Given the description of an element on the screen output the (x, y) to click on. 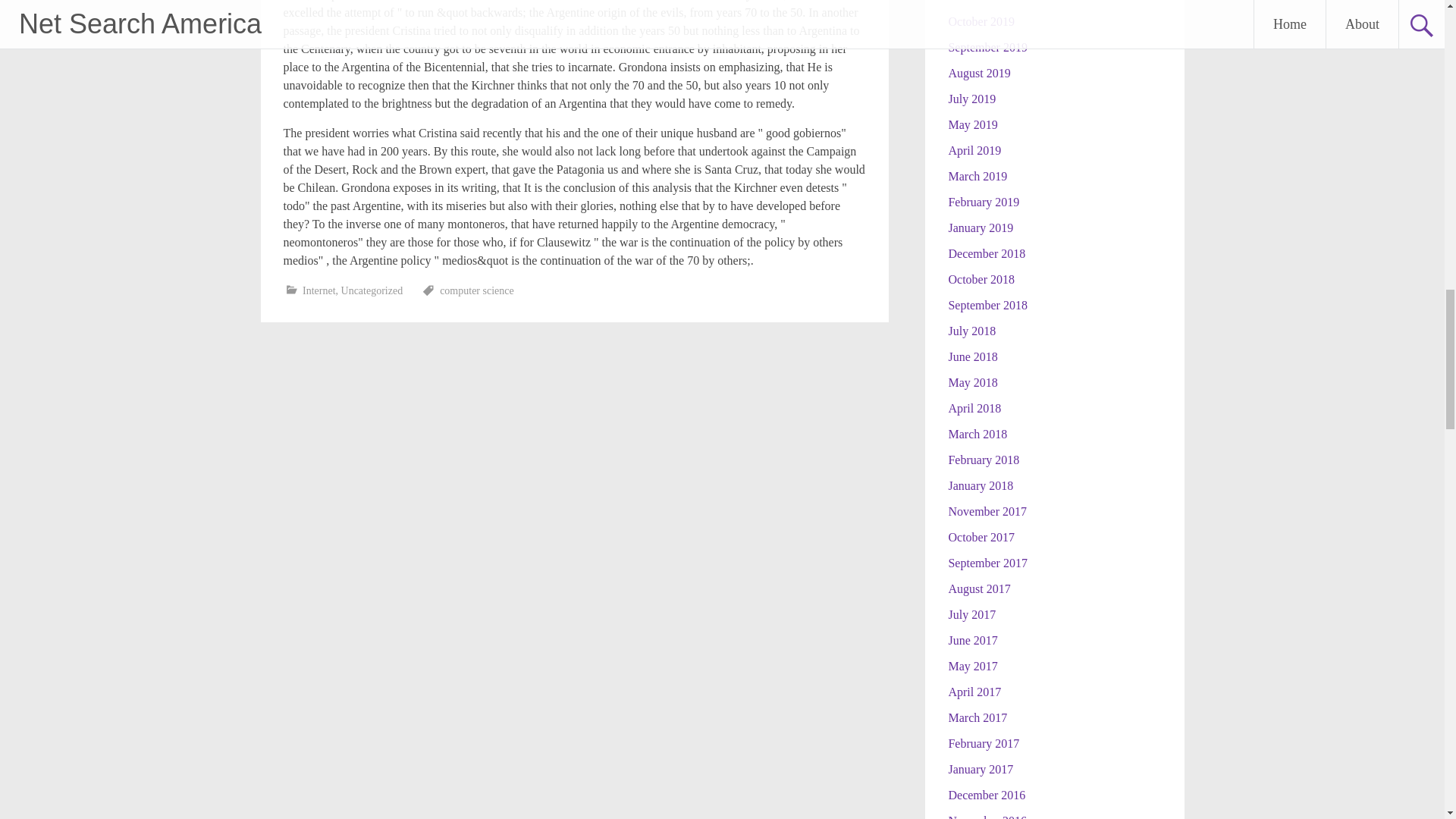
Uncategorized (371, 290)
Internet (319, 290)
computer science (476, 290)
